Given the description of an element on the screen output the (x, y) to click on. 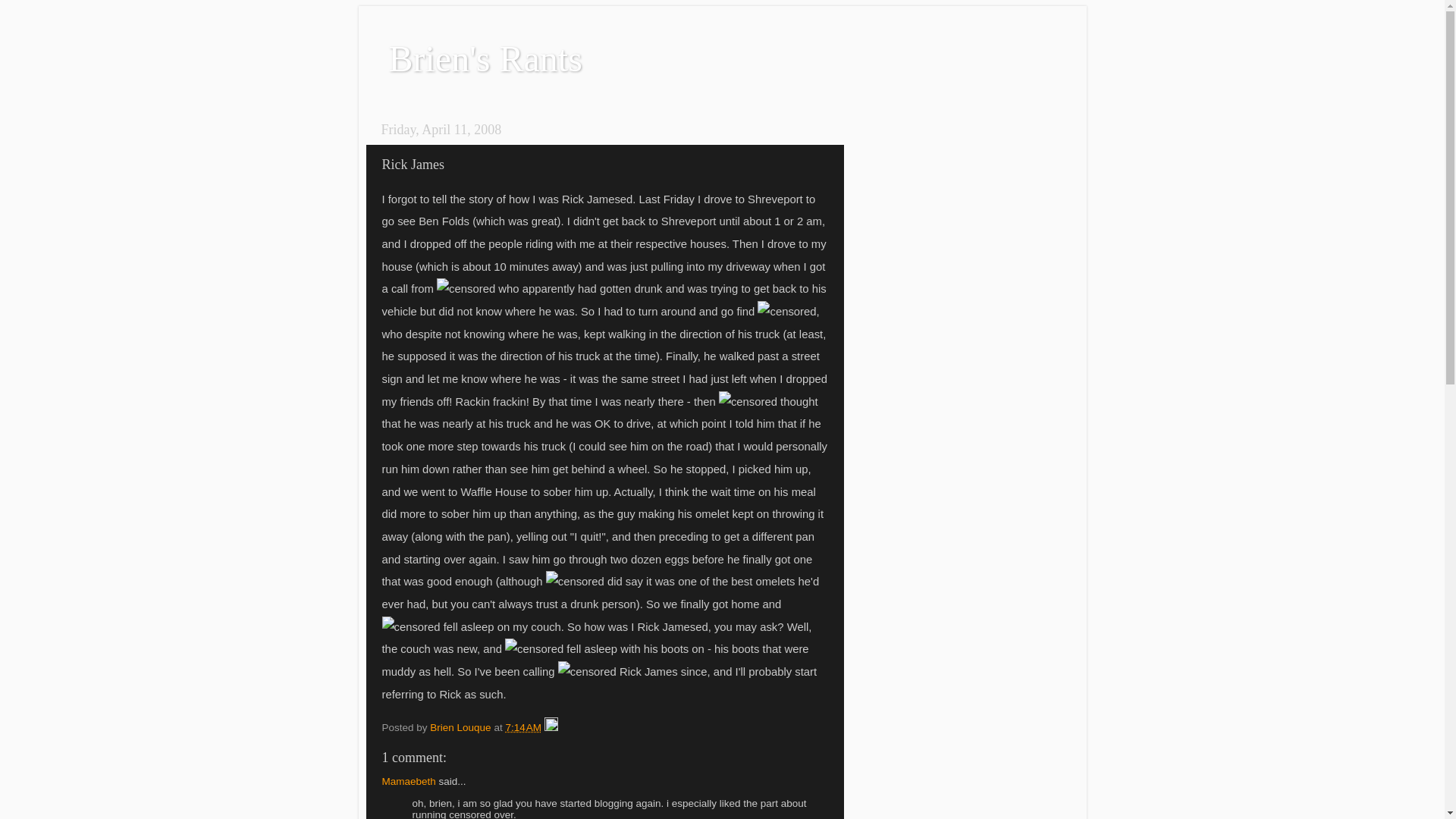
Brien Louque Element type: text (461, 727)
Brien's Rants Element type: text (484, 58)
Mamaebeth Element type: text (409, 781)
Edit Post Element type: hover (551, 727)
